Given the description of an element on the screen output the (x, y) to click on. 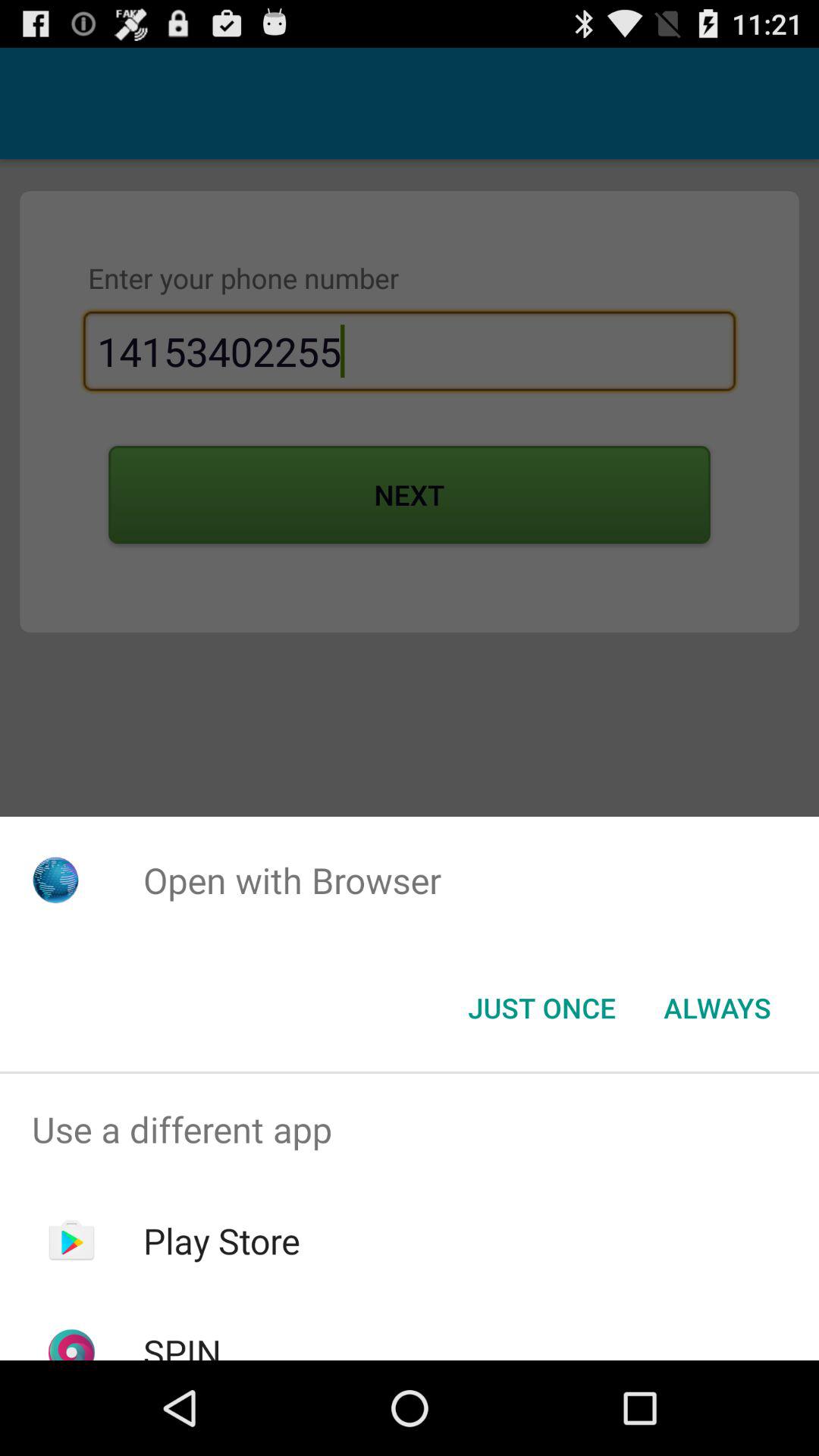
choose the always button (717, 1007)
